Given the description of an element on the screen output the (x, y) to click on. 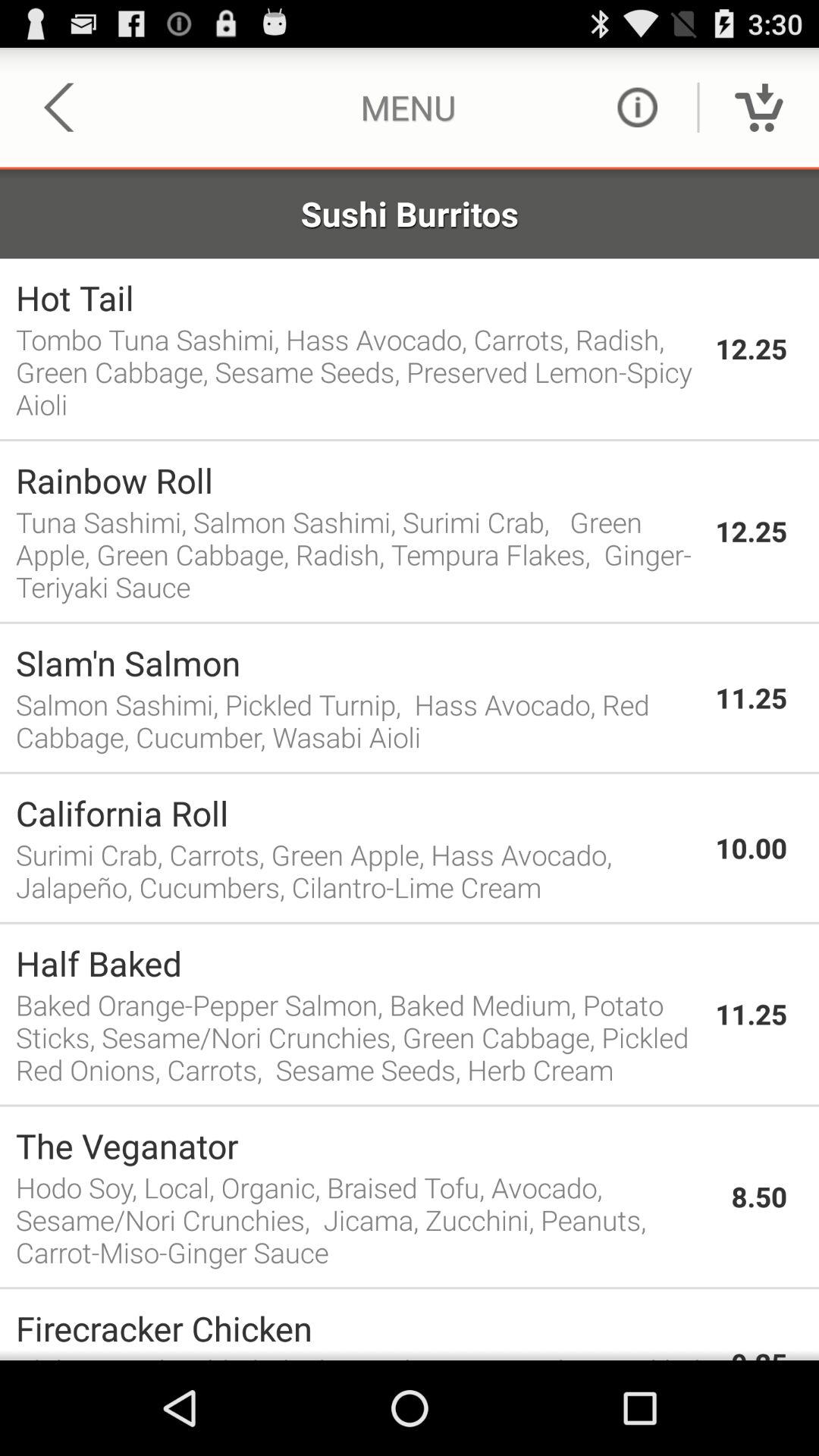
tap icon below the sushi burritos (357, 297)
